Given the description of an element on the screen output the (x, y) to click on. 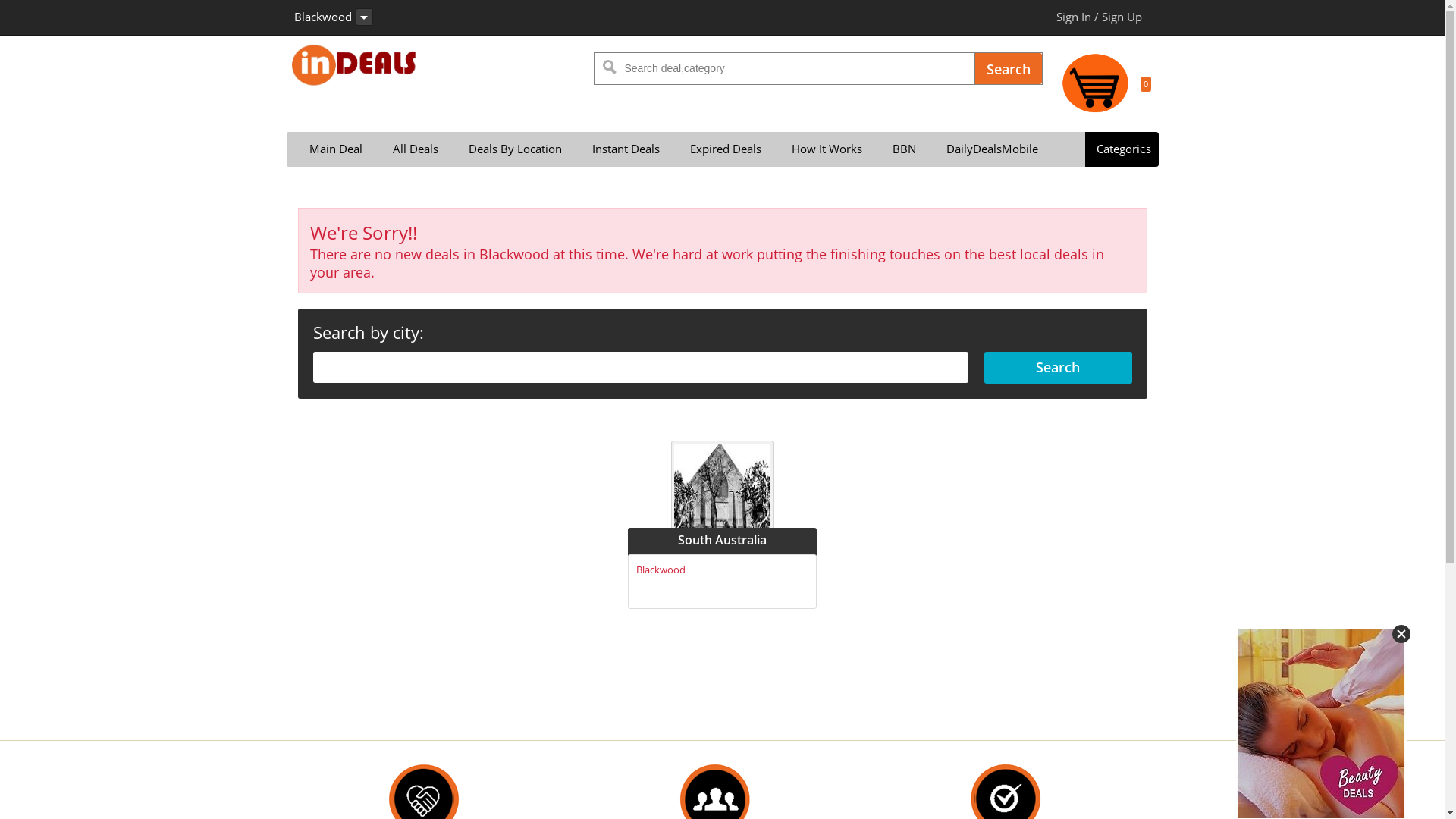
DailyDealsMobile Element type: text (984, 148)
Search Element type: text (1008, 68)
How It Works Element type: text (818, 148)
BBN Element type: text (895, 148)
Blackwood Element type: text (660, 569)
Expired Deals Element type: text (717, 148)
0 Element type: text (1106, 86)
Sign In / Sign Up Element type: text (1098, 17)
Deals By Location Element type: text (507, 148)
Search Element type: text (1057, 367)
Main Deal Element type: text (328, 148)
Categories Element type: text (1120, 148)
All Deals Element type: text (407, 148)
Blackwood Element type: text (333, 17)
Instant Deals Element type: text (617, 148)
